Given the description of an element on the screen output the (x, y) to click on. 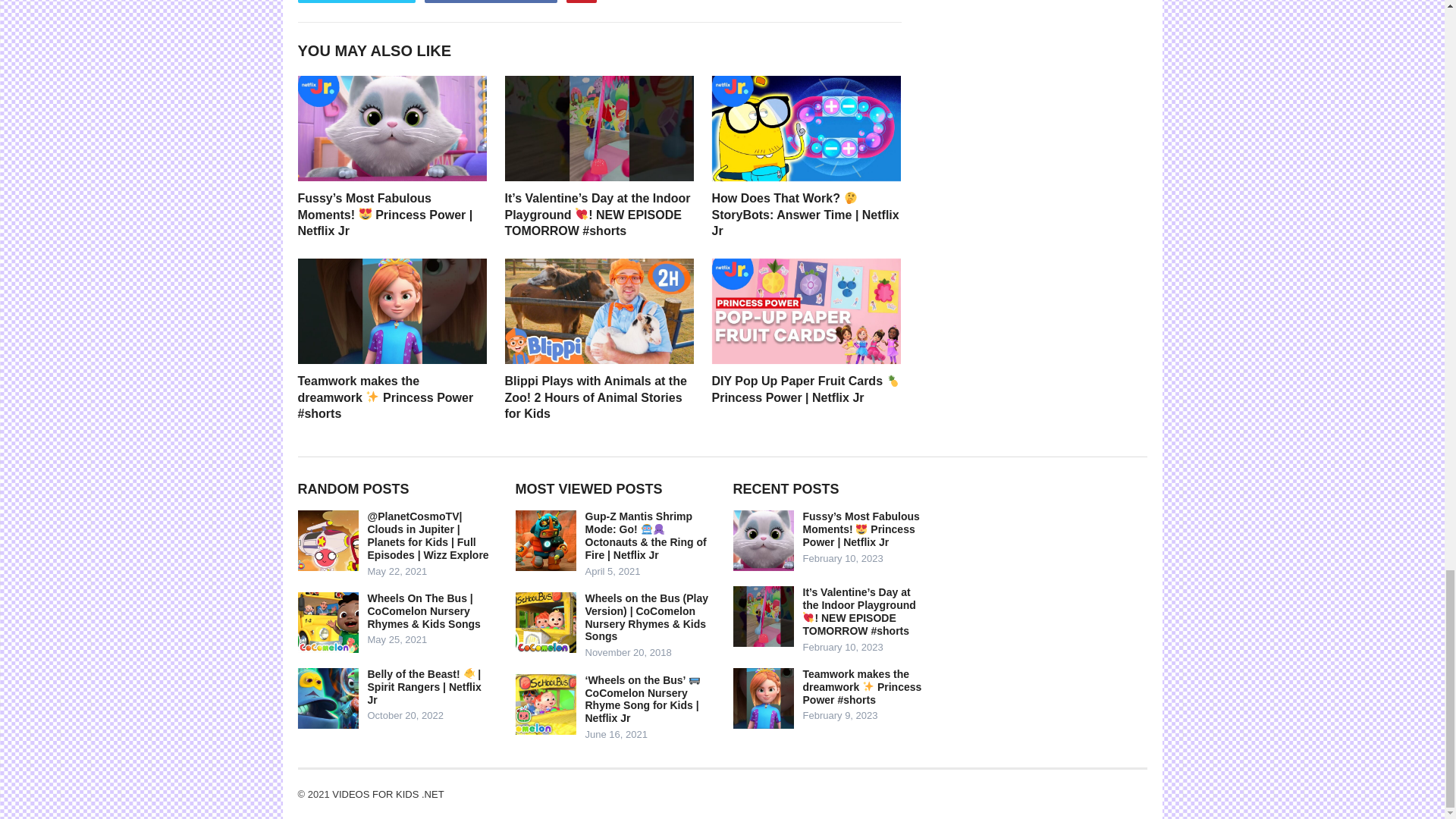
Tweet on Twitter (355, 1)
Pinterest (581, 1)
Share on Facebook (490, 1)
